Given the description of an element on the screen output the (x, y) to click on. 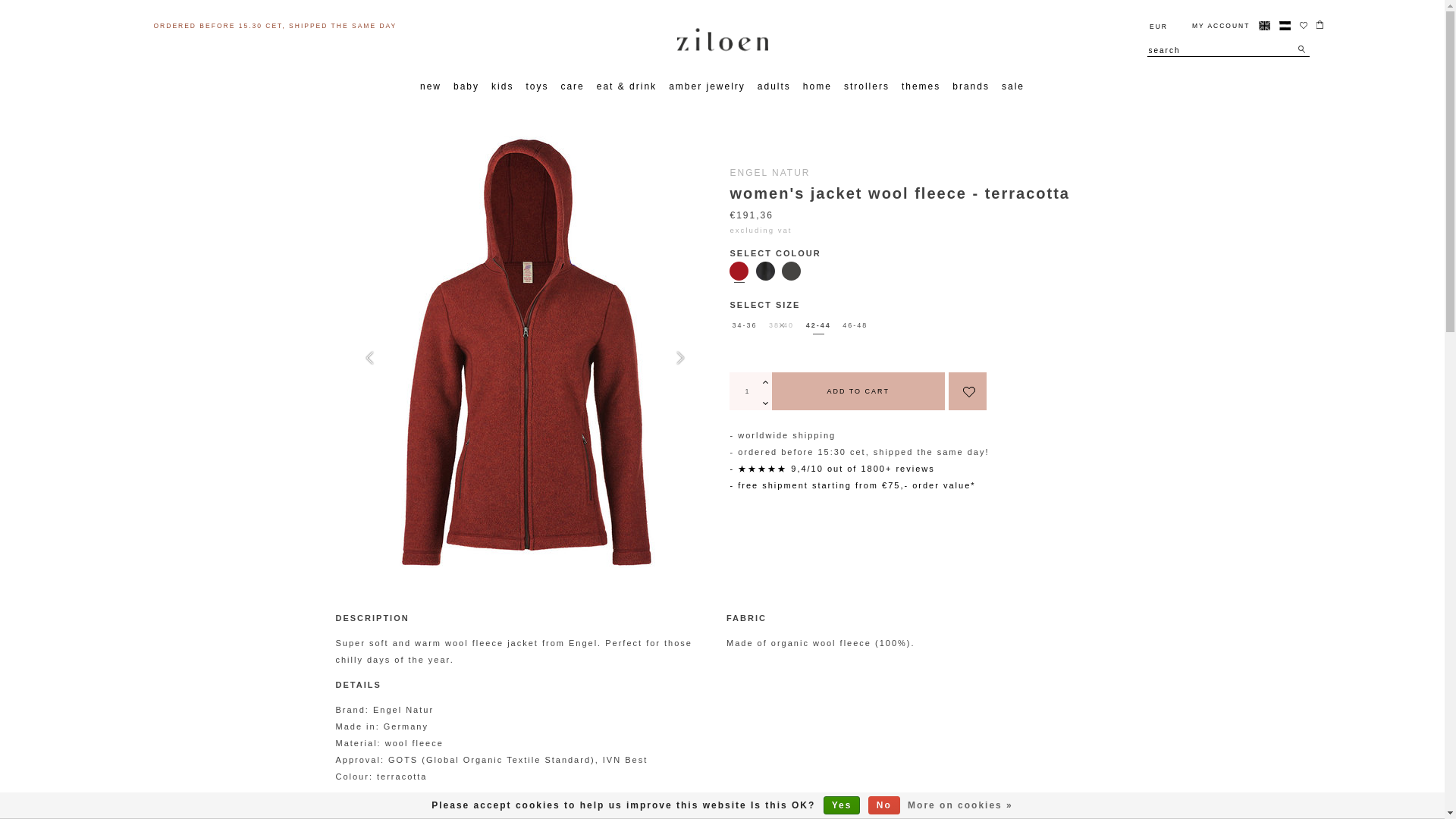
babysuits (748, 478)
premature (749, 478)
MY ACCOUNT (1214, 25)
baby (465, 86)
bonnets (743, 478)
CART (1232, 53)
EUR (1158, 26)
tops (733, 478)
ORDERED BEFORE 15.30 CET, SHIPPED THE SAME DAY (274, 25)
see all (740, 478)
dresses (743, 478)
My account (1214, 25)
eur (1158, 26)
new (429, 86)
